Given the description of an element on the screen output the (x, y) to click on. 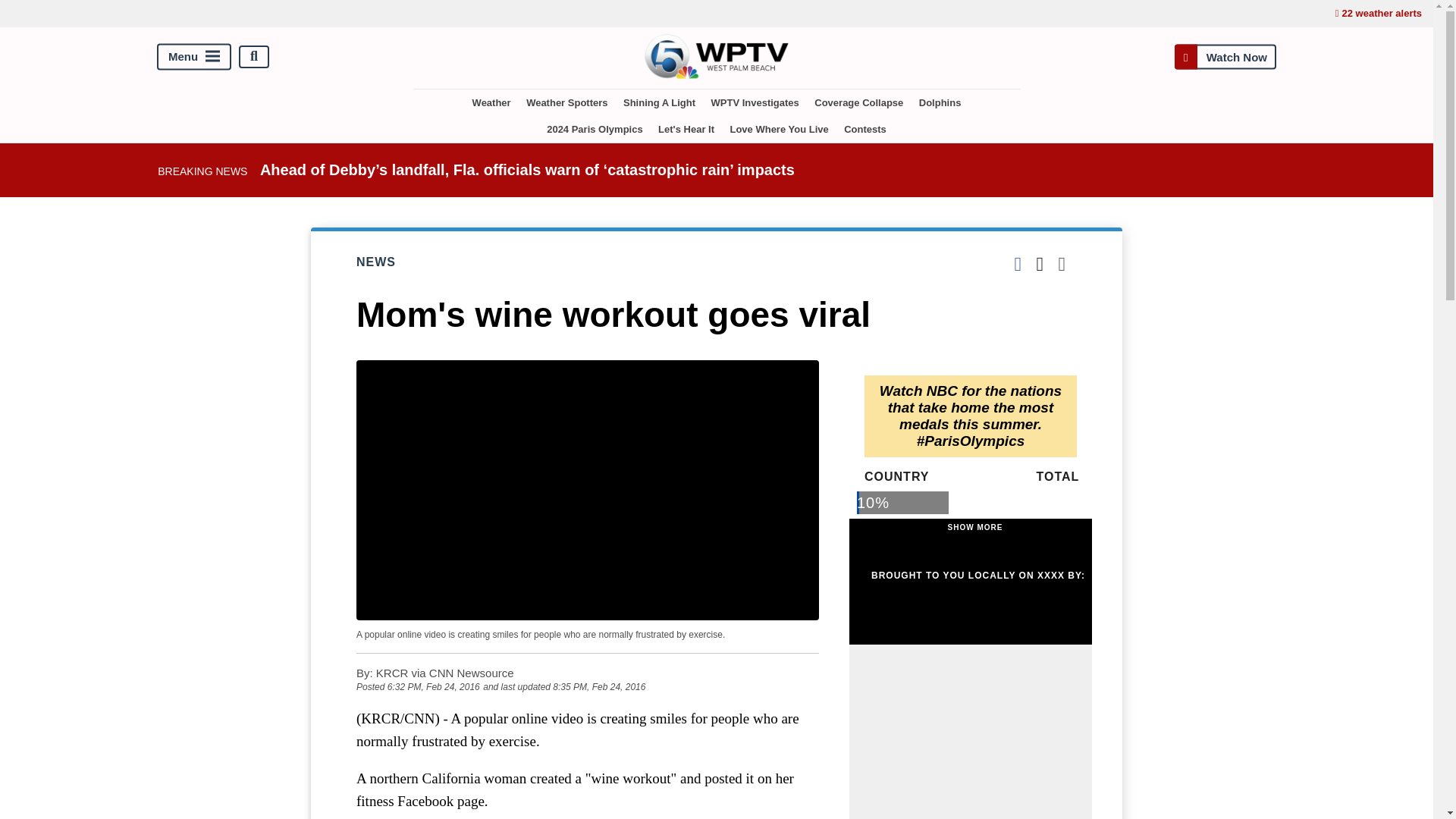
Menu (194, 56)
Watch Now (1224, 56)
